Given the description of an element on the screen output the (x, y) to click on. 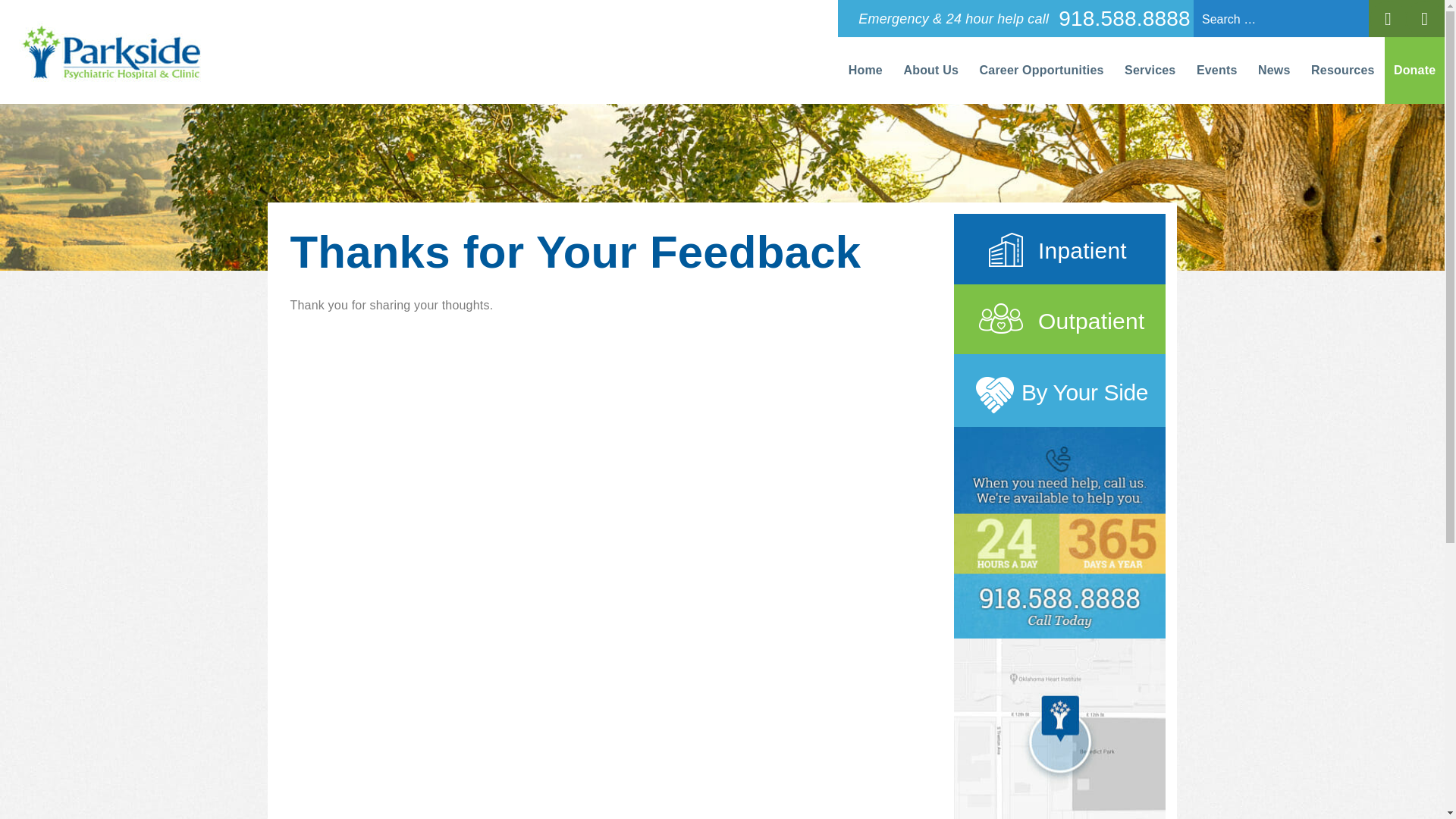
Events (1216, 70)
About Us (931, 70)
Resources (1342, 70)
News (1273, 70)
Services (1149, 70)
918.588.8888 (1124, 18)
Home (865, 70)
Career Opportunities (1041, 70)
